Given the description of an element on the screen output the (x, y) to click on. 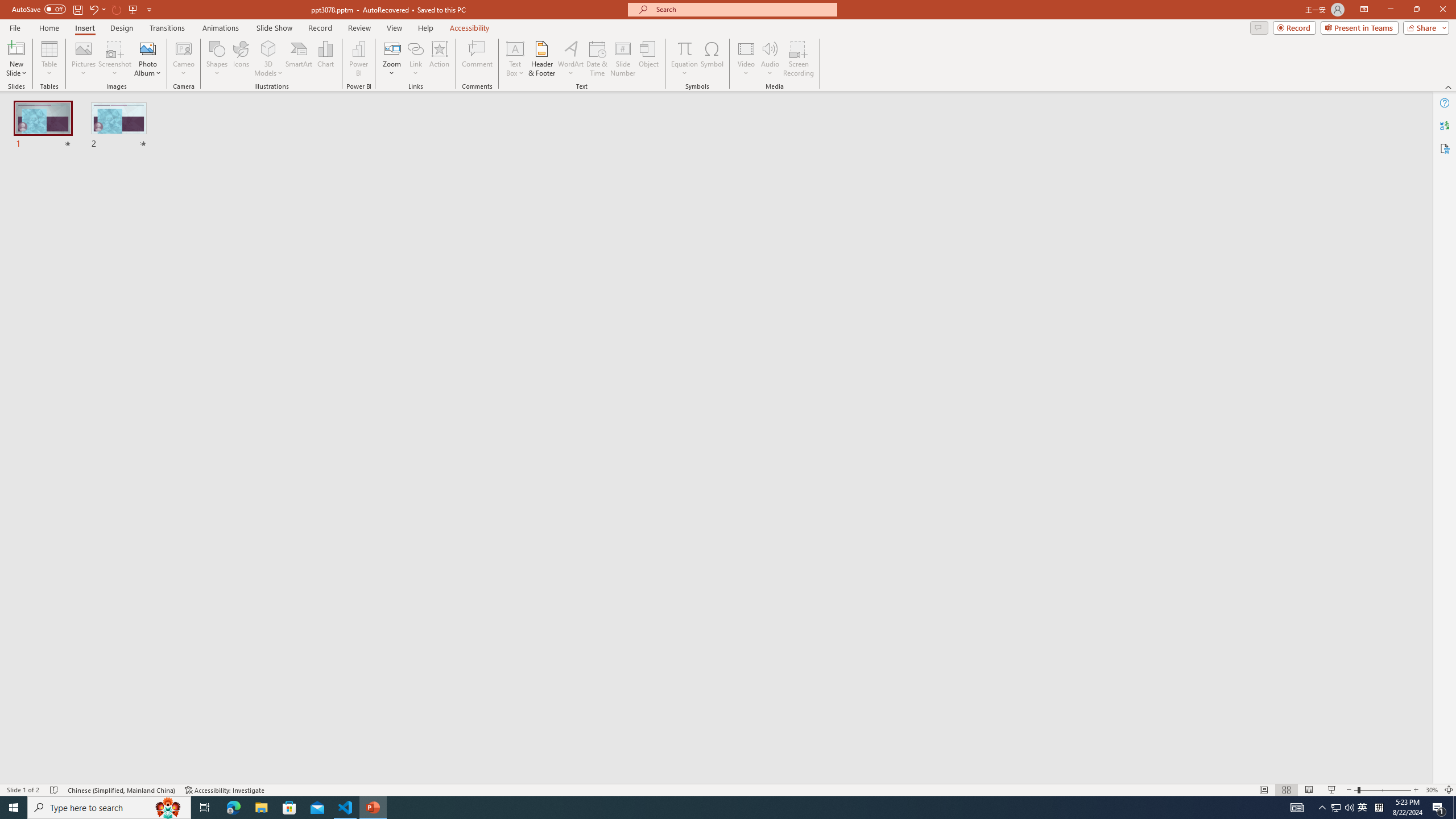
wangyian_dsw - DSW (23, 183)
Timeline Section (188, 635)
Manage (76, 734)
Explorer actions (222, 183)
Terminal (Ctrl+`) (579, 533)
Class: menubar compact overflow-menu-only (76, 183)
Debug Console (Ctrl+Shift+Y) (486, 533)
